Given the description of an element on the screen output the (x, y) to click on. 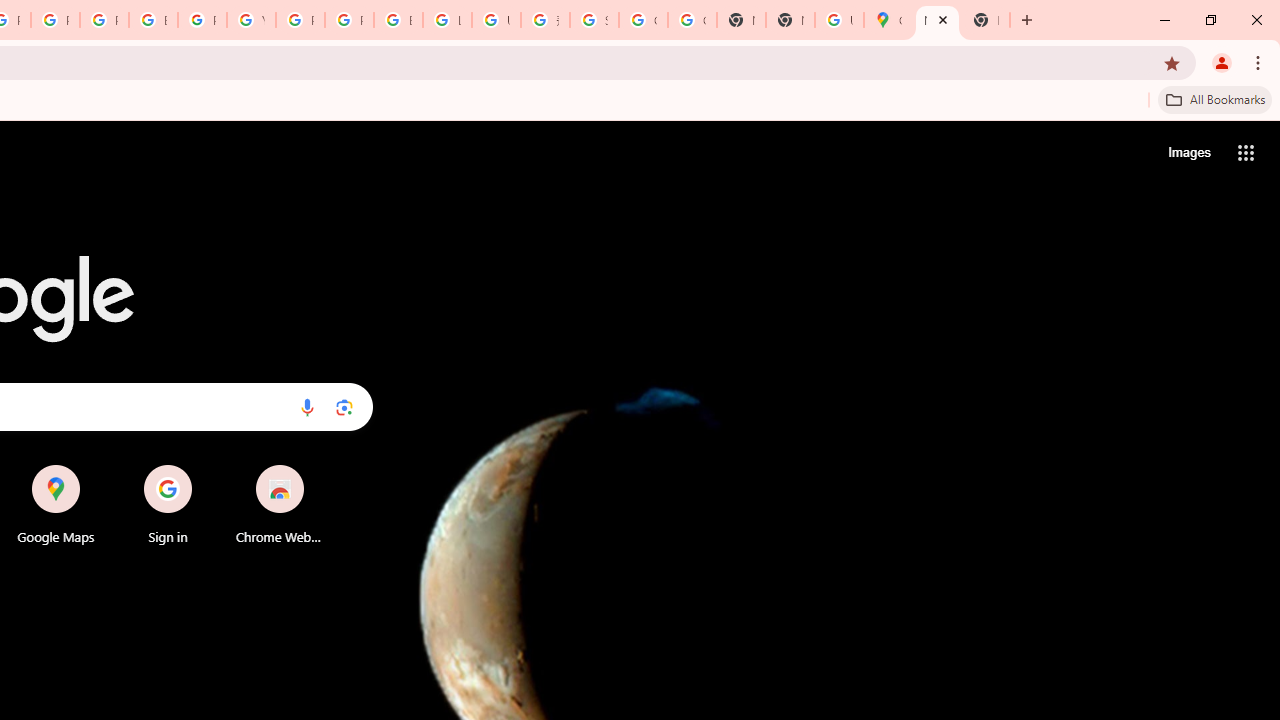
Google Maps (888, 20)
New Tab (790, 20)
